Given the description of an element on the screen output the (x, y) to click on. 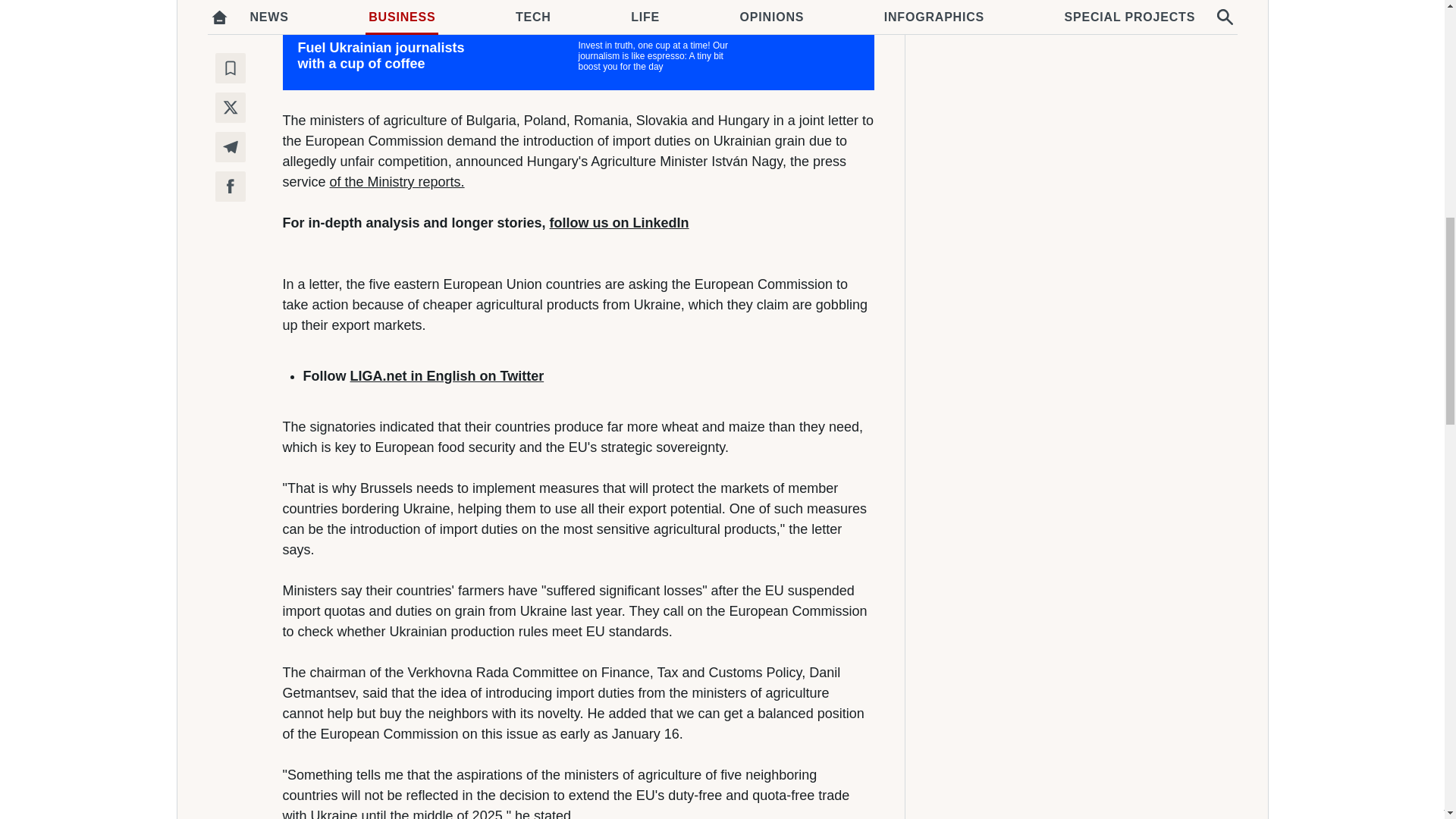
of the Ministry reports. (397, 181)
follow us on LinkedIn (619, 222)
Fuel Ukrainian journalists with a cup of coffee (577, 56)
follow us on LinkedIn (619, 222)
LIGA.net in English on Twitter (447, 376)
